Given the description of an element on the screen output the (x, y) to click on. 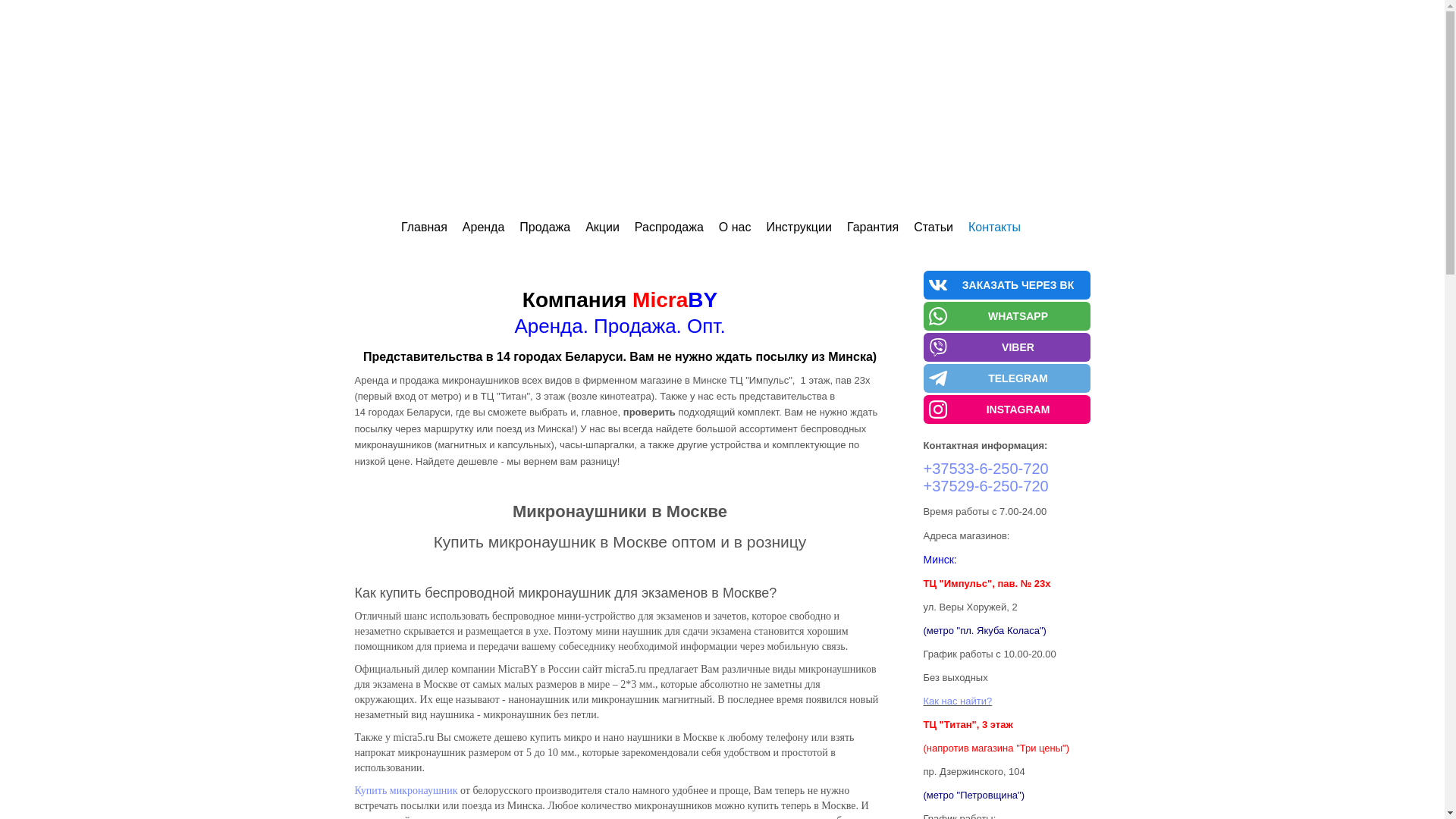
WHATSAPP Element type: text (1006, 315)
TELEGRAM Element type: text (1006, 378)
INSTAGRAM Element type: text (1006, 409)
+37529-6-250-720 Element type: text (985, 485)
VIBER Element type: text (1006, 346)
+37533-6-250-720 Element type: text (985, 468)
